Given the description of an element on the screen output the (x, y) to click on. 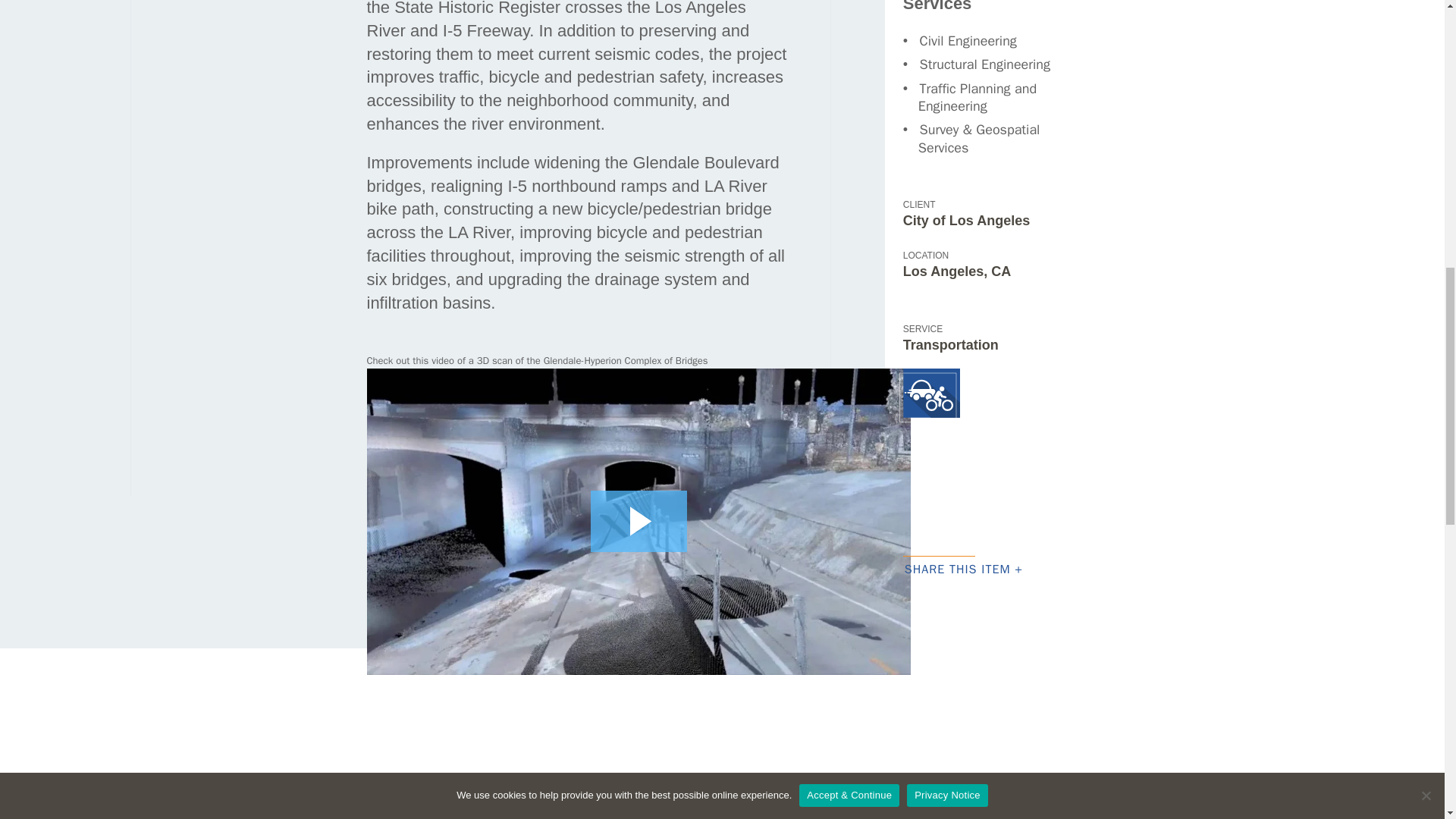
Transportation (929, 394)
Transportation (950, 344)
